Given the description of an element on the screen output the (x, y) to click on. 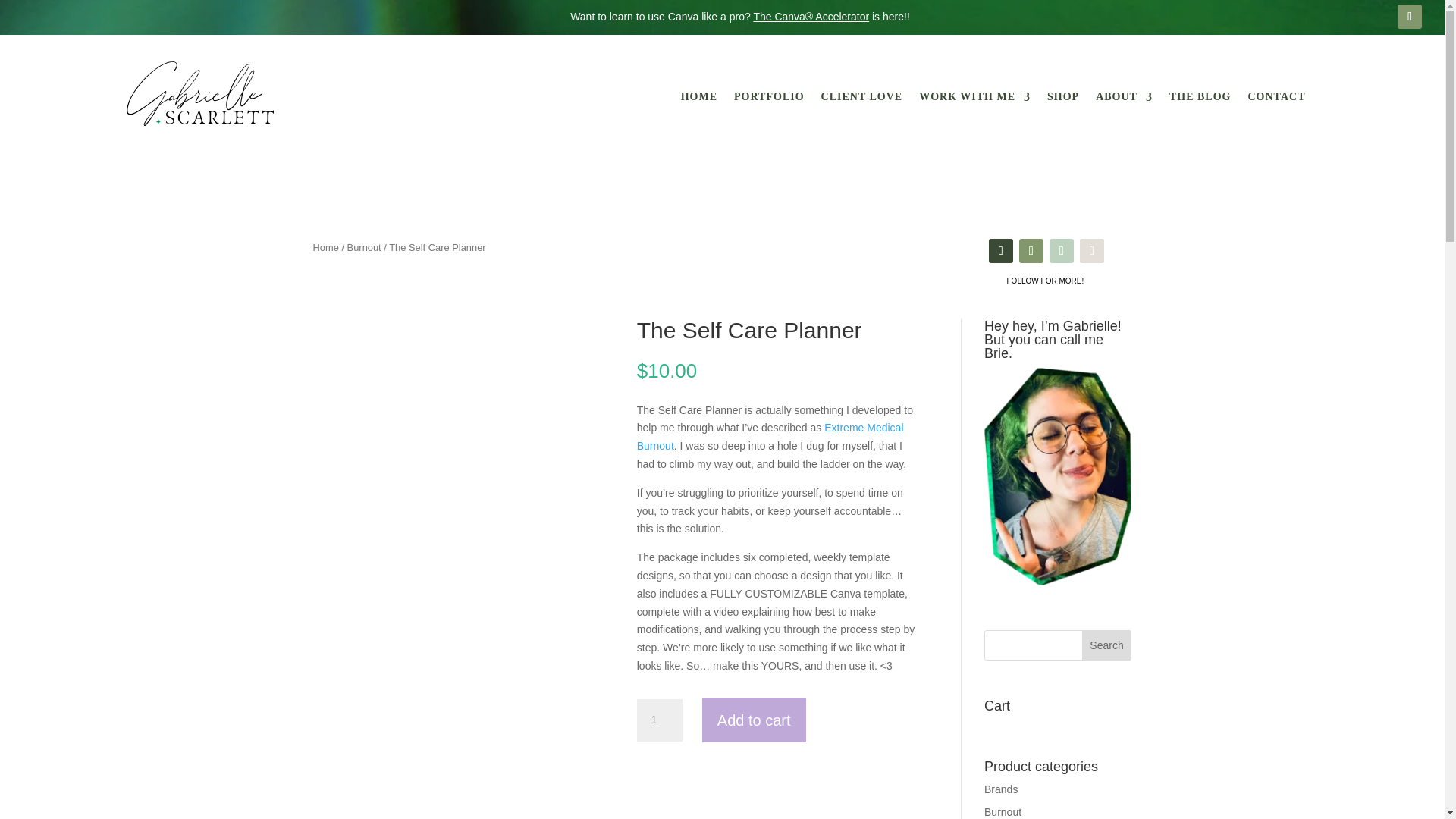
Brands (1000, 788)
SHOP (1062, 99)
Follow on X (1061, 250)
Follow on Facebook (1000, 250)
Add to cart (754, 719)
Search (1106, 644)
1 (659, 720)
Search (1106, 644)
ABOUT (1124, 99)
Follow on RSS (1409, 16)
Home (325, 247)
WORK WITH ME (974, 99)
Extreme Medical Burnout (770, 436)
PORTFOLIO (769, 99)
Follow on Pinterest (1091, 250)
